Given the description of an element on the screen output the (x, y) to click on. 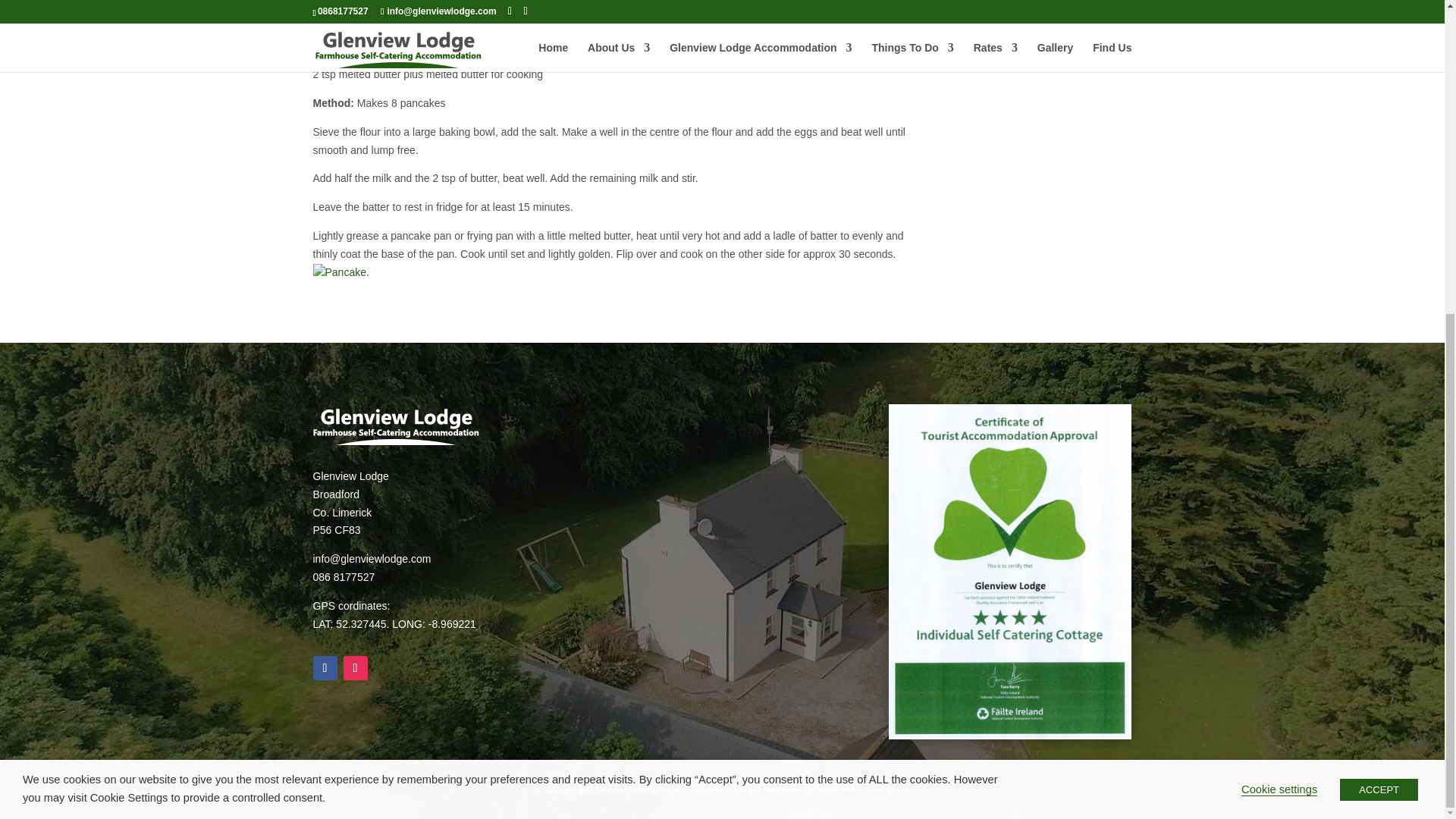
Follow on Facebook (324, 668)
Follow on Instagram (354, 668)
Glenview-Lodge-Logo-White (396, 424)
